Given the description of an element on the screen output the (x, y) to click on. 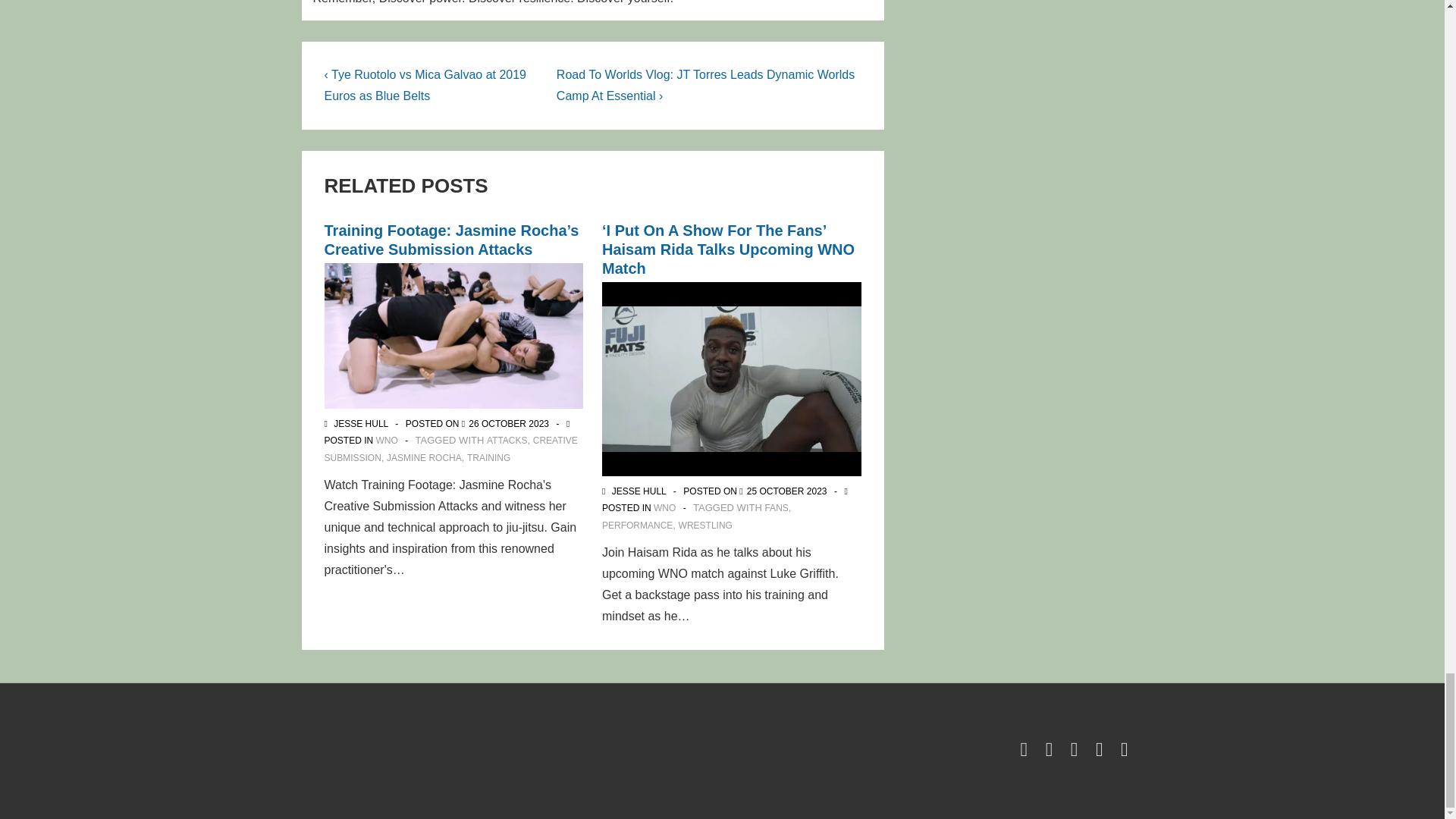
CREATIVE SUBMISSION (451, 448)
25 OCTOBER 2023 (786, 491)
JASMINE ROCHA (424, 457)
ATTACKS (506, 439)
View all posts by Jesse Hull (357, 423)
View all posts by Jesse Hull (635, 491)
26 OCTOBER 2023 (508, 423)
JESSE HULL (357, 423)
WNO (386, 439)
TRAINING (489, 457)
